Given the description of an element on the screen output the (x, y) to click on. 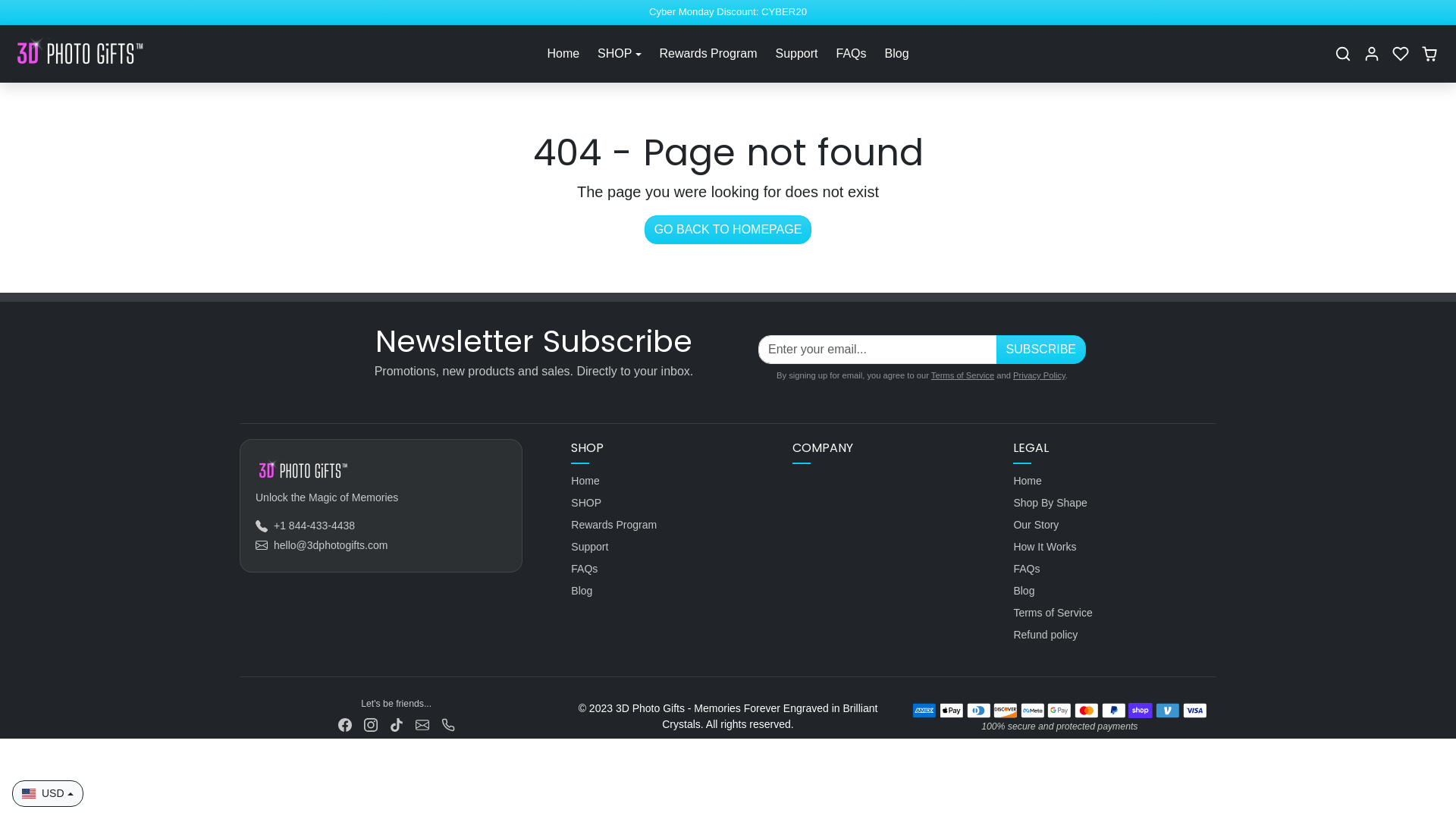
Support Element type: text (672, 547)
SHOP Element type: text (672, 503)
Refund policy Element type: text (1114, 635)
FAQs Element type: text (672, 569)
Terms of Service Element type: text (962, 374)
SUBSCRIBE Element type: text (1040, 349)
+1 844-433-4438 Element type: text (304, 525)
Blog Element type: text (1114, 591)
hello@3dphotogifts.com Element type: text (321, 545)
Home Element type: text (1114, 481)
How It Works Element type: text (1114, 547)
Support Element type: text (795, 52)
Blog Element type: text (672, 591)
Rewards Program Element type: text (672, 525)
FAQs Element type: text (1114, 569)
FAQs Element type: text (851, 52)
Privacy Policy Element type: text (1039, 374)
Home Element type: text (672, 481)
Shop By Shape Element type: text (1114, 503)
Rewards Program Element type: text (708, 52)
USD Element type: text (47, 793)
Terms of Service Element type: text (1114, 613)
GO BACK TO HOMEPAGE Element type: text (728, 229)
Our Story Element type: text (1114, 525)
Blog Element type: text (896, 52)
Home Element type: text (562, 52)
SHOP Element type: text (618, 52)
